Given the description of an element on the screen output the (x, y) to click on. 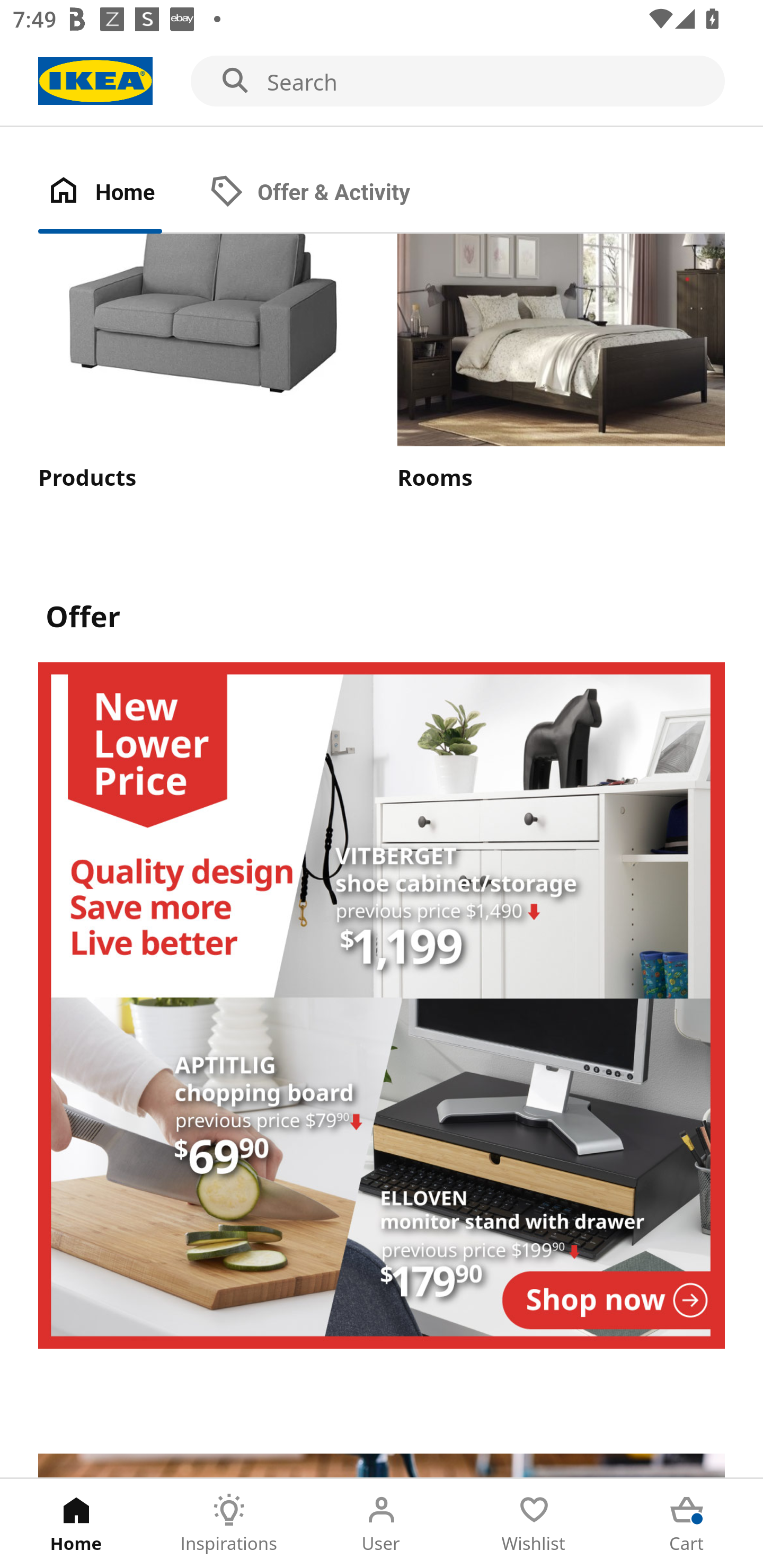
Search (381, 81)
Home
Tab 1 of 2 (118, 192)
Offer & Activity
Tab 2 of 2 (327, 192)
Products (201, 363)
Rooms (560, 363)
Home
Tab 1 of 5 (76, 1522)
Inspirations
Tab 2 of 5 (228, 1522)
User
Tab 3 of 5 (381, 1522)
Wishlist
Tab 4 of 5 (533, 1522)
Cart
Tab 5 of 5 (686, 1522)
